Given the description of an element on the screen output the (x, y) to click on. 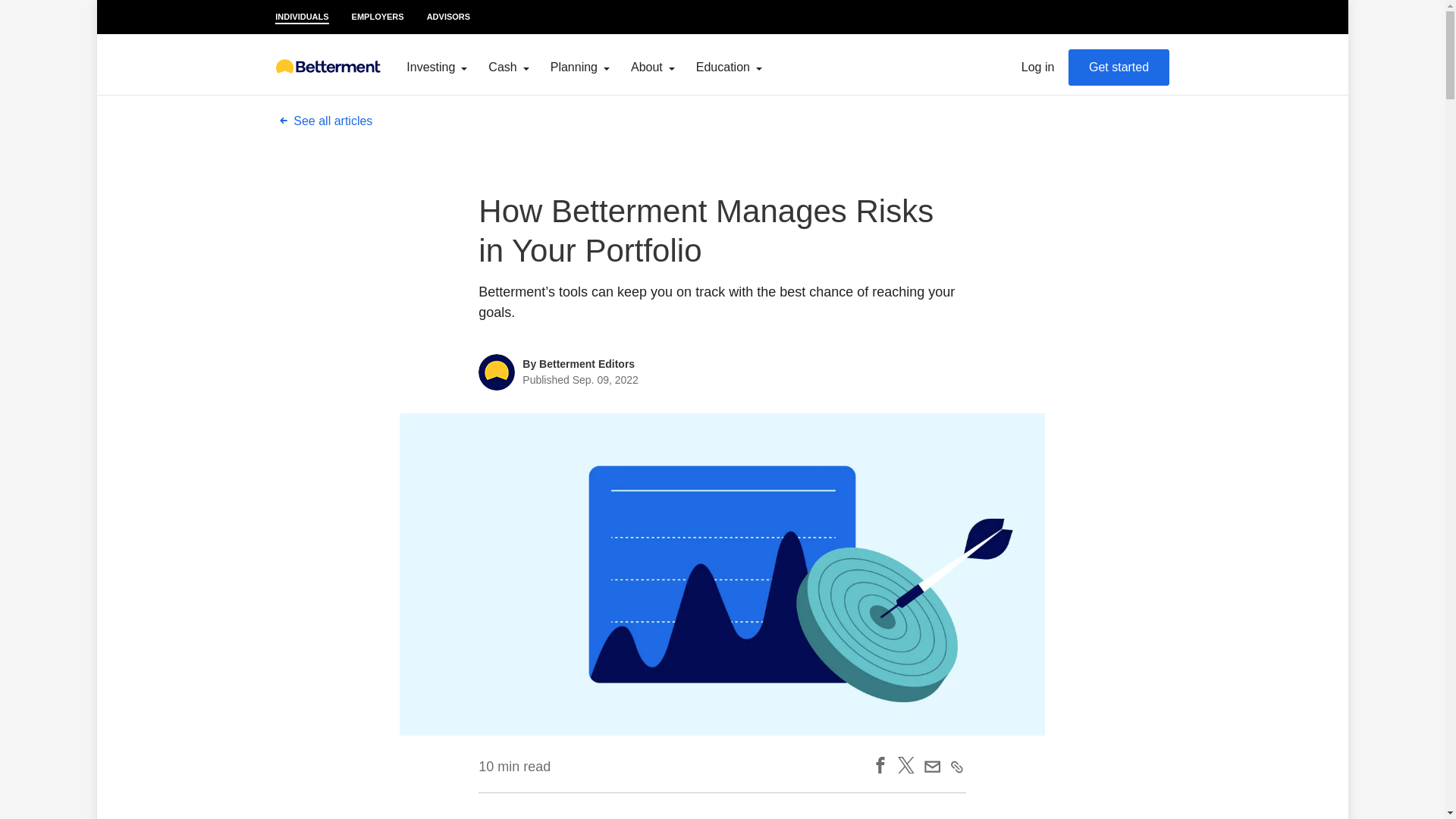
Education (728, 67)
Log in (1037, 67)
EMPLOYERS (378, 16)
Planning (579, 67)
Get started (1118, 66)
Cash (508, 67)
See all articles (323, 121)
INDIVIDUALS (302, 16)
About (652, 67)
Investing (436, 67)
Betterment Editors (586, 363)
Betterment Logo (328, 65)
Betterment Logo (328, 67)
ADVISORS (448, 16)
Get started (1118, 66)
